Given the description of an element on the screen output the (x, y) to click on. 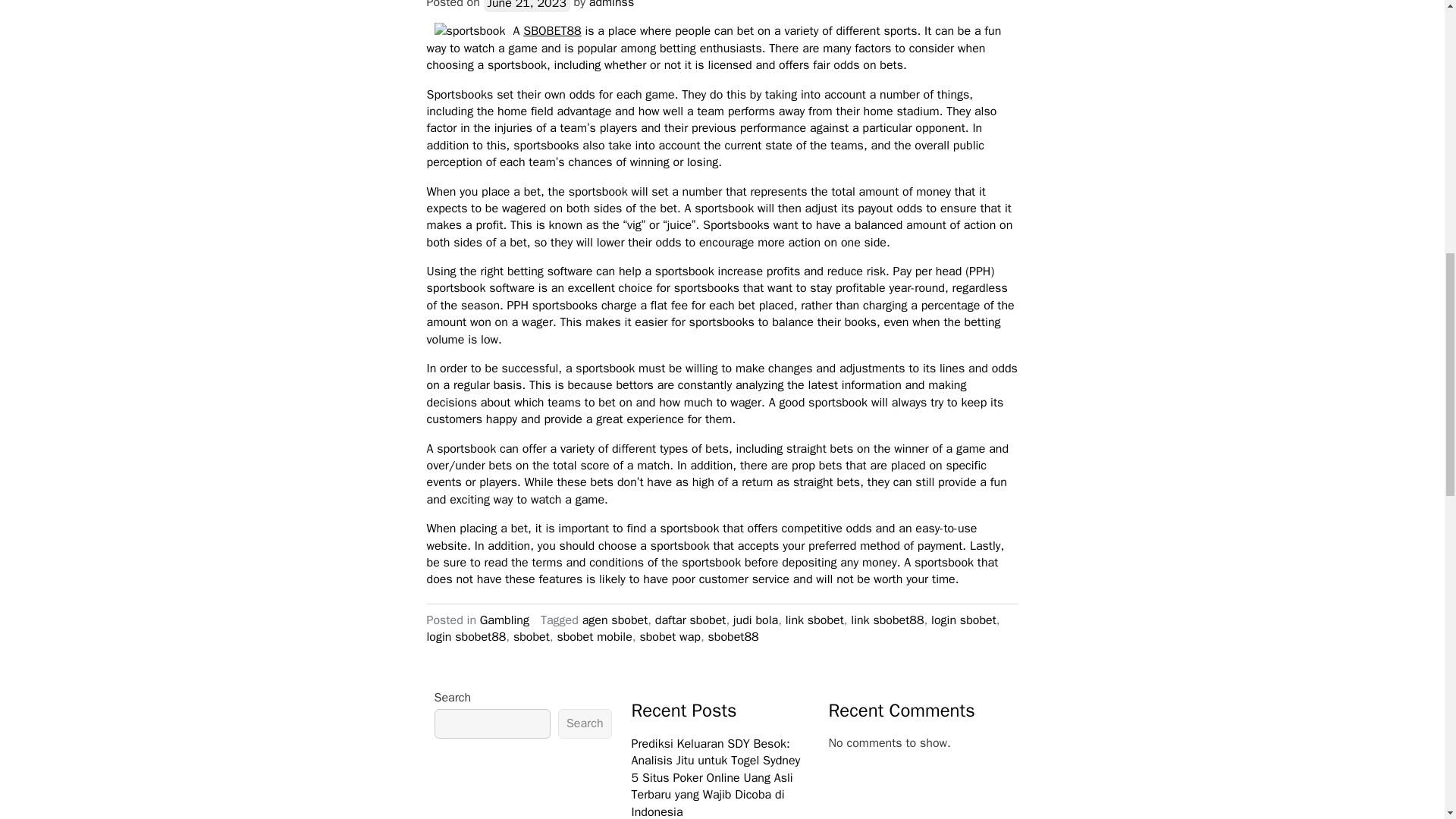
sbobet (531, 636)
SBOBET88 (551, 30)
June 21, 2023 (526, 5)
login sbobet88 (465, 636)
Gambling (504, 620)
